Given the description of an element on the screen output the (x, y) to click on. 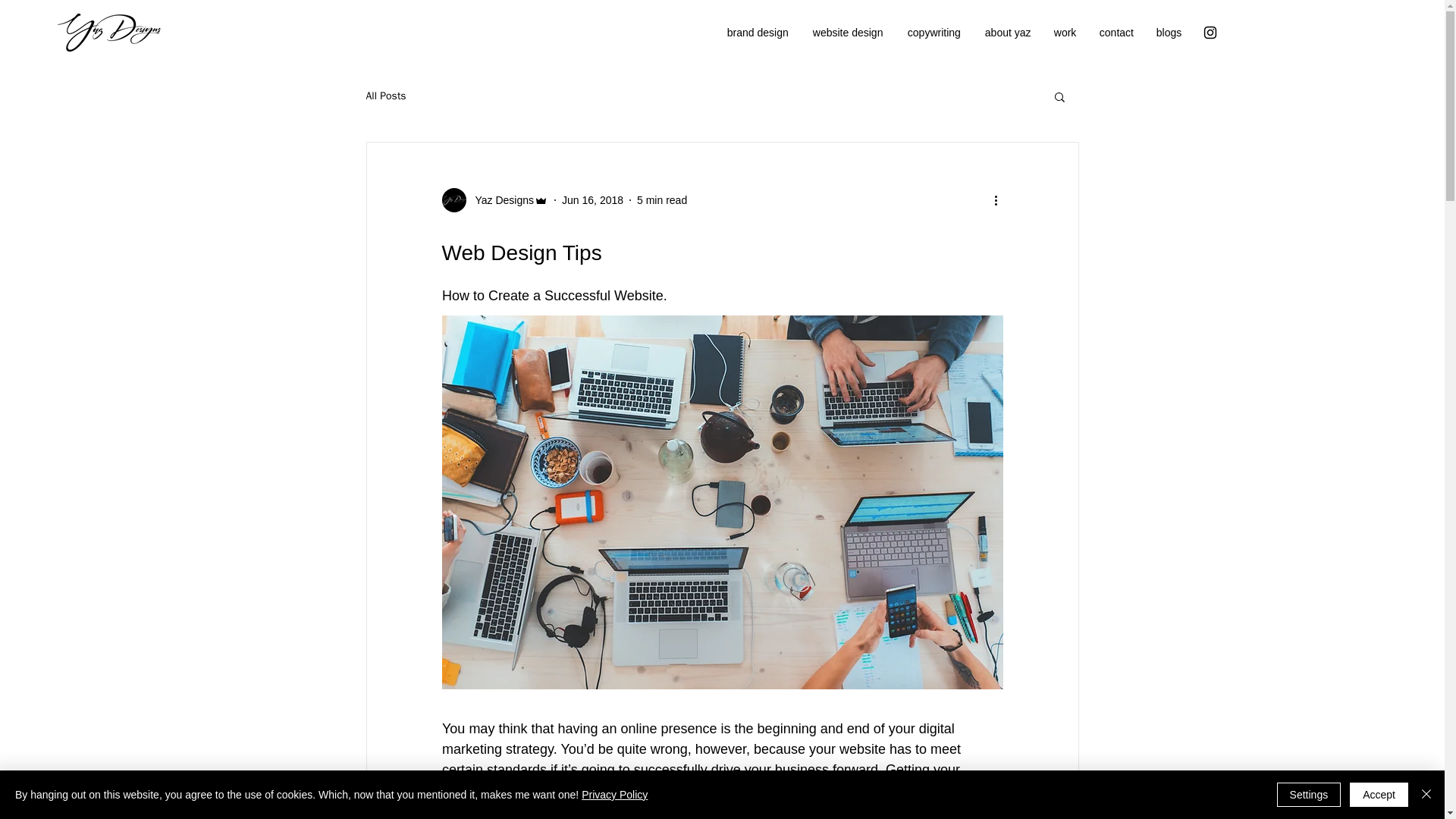
contact (1115, 32)
All Posts (385, 96)
Privacy Policy (613, 794)
Yaz Designs (499, 200)
about yaz (1008, 32)
brand design (759, 32)
Accept (1378, 794)
5 min read (662, 200)
blogs (1168, 32)
work (1064, 32)
